Given the description of an element on the screen output the (x, y) to click on. 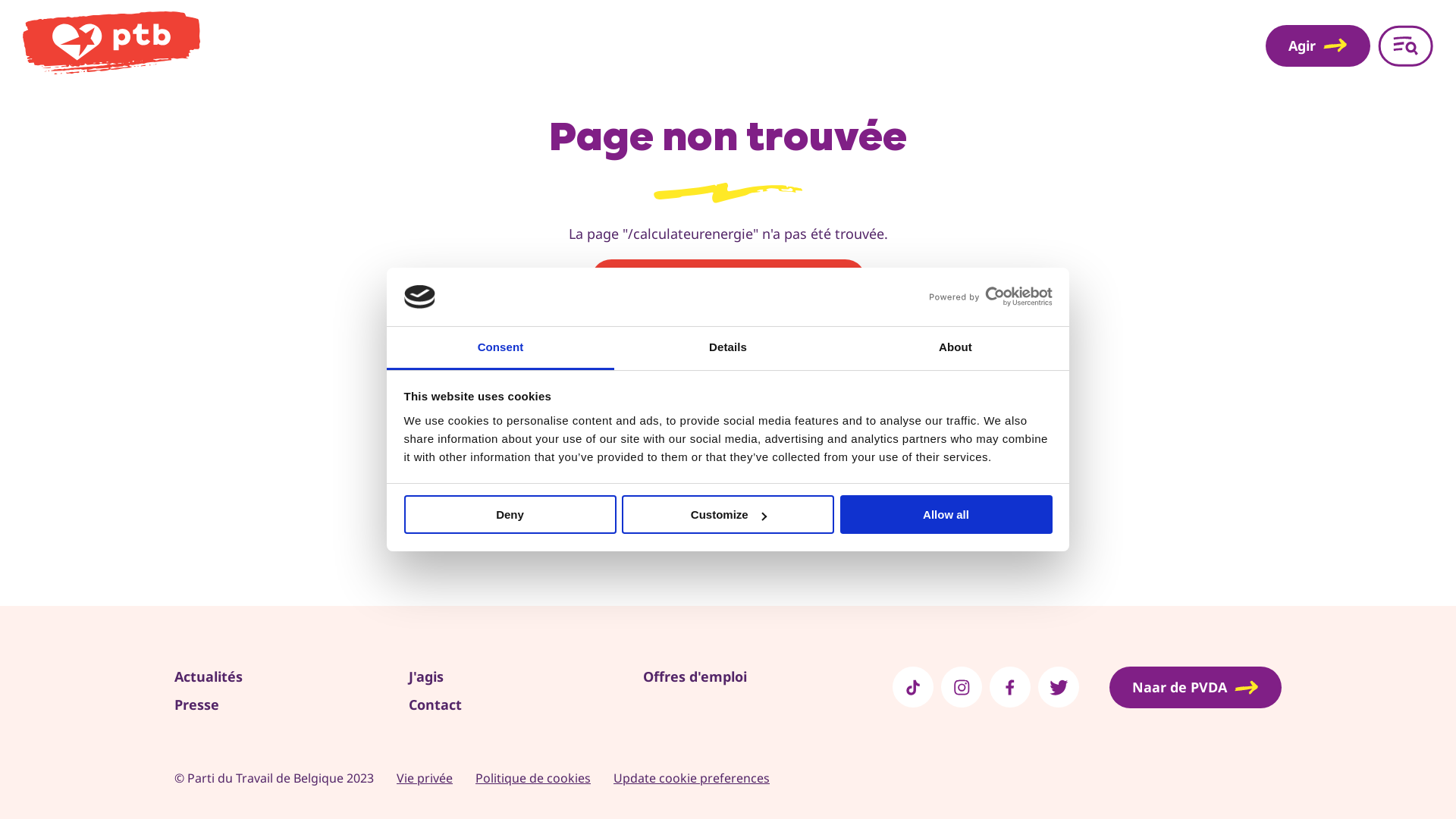
J'agis Element type: text (425, 676)
Presse Element type: text (196, 704)
Agir Element type: text (1317, 45)
Contact Element type: text (434, 704)
About Element type: text (955, 348)
Offres d'emploi Element type: text (694, 676)
Consent Element type: text (500, 348)
PTB Element type: text (643, 45)
Details Element type: text (727, 348)
Deny Element type: text (509, 514)
Politique de cookies Element type: text (532, 777)
Allow all Element type: text (946, 514)
Update cookie preferences Element type: text (691, 777)
Customize Element type: text (727, 514)
Naar de PVDA Element type: text (1195, 687)
